Given the description of an element on the screen output the (x, y) to click on. 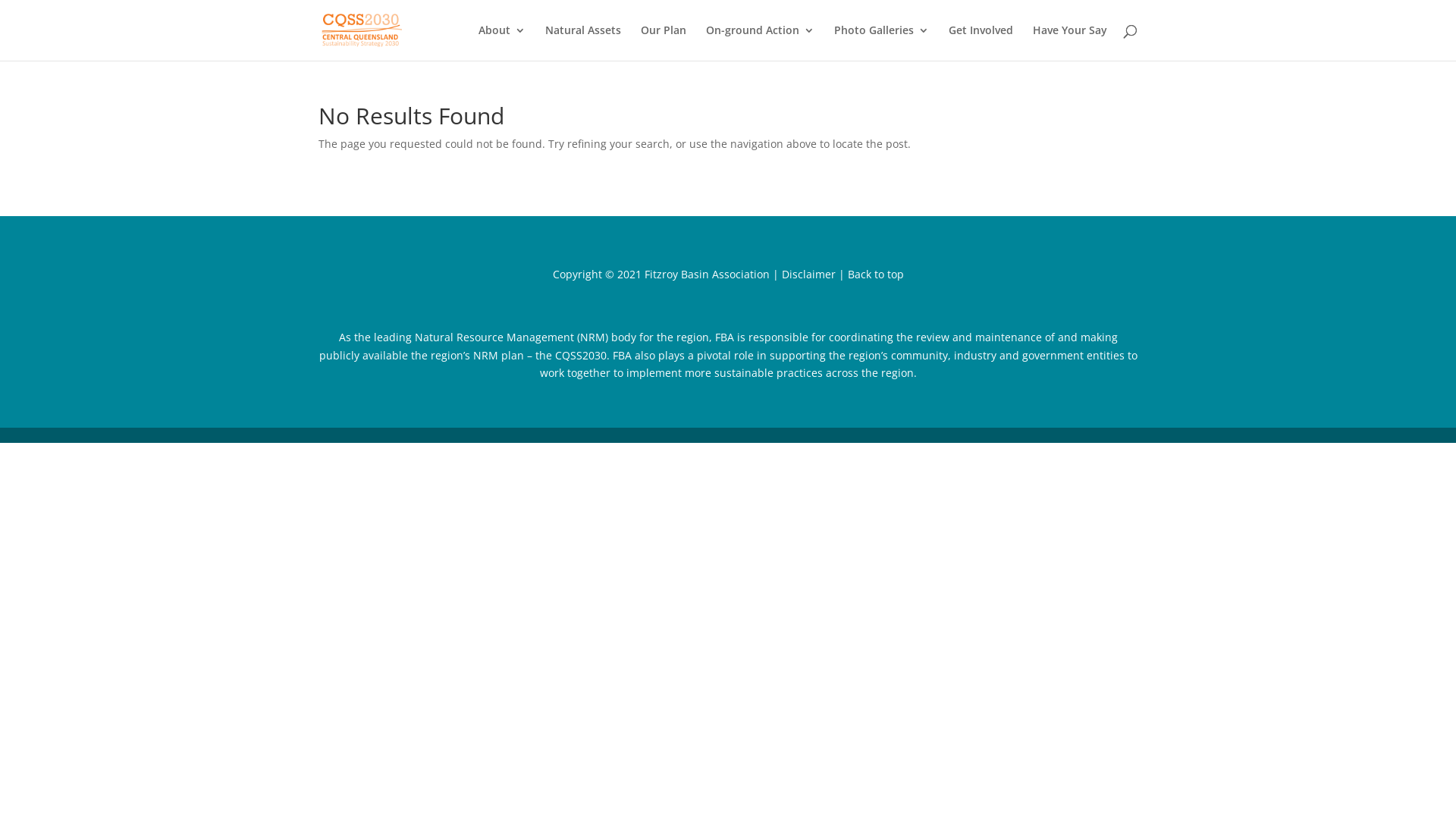
Have Your Say Element type: text (1069, 42)
Our Plan Element type: text (663, 42)
Photo Galleries Element type: text (881, 42)
Back to top Element type: text (875, 273)
Fitzroy Basin Association Element type: text (706, 273)
Natural Assets Element type: text (583, 42)
About Element type: text (501, 42)
Disclaimer  Element type: text (809, 273)
On-ground Action Element type: text (760, 42)
Get Involved Element type: text (980, 42)
